Given the description of an element on the screen output the (x, y) to click on. 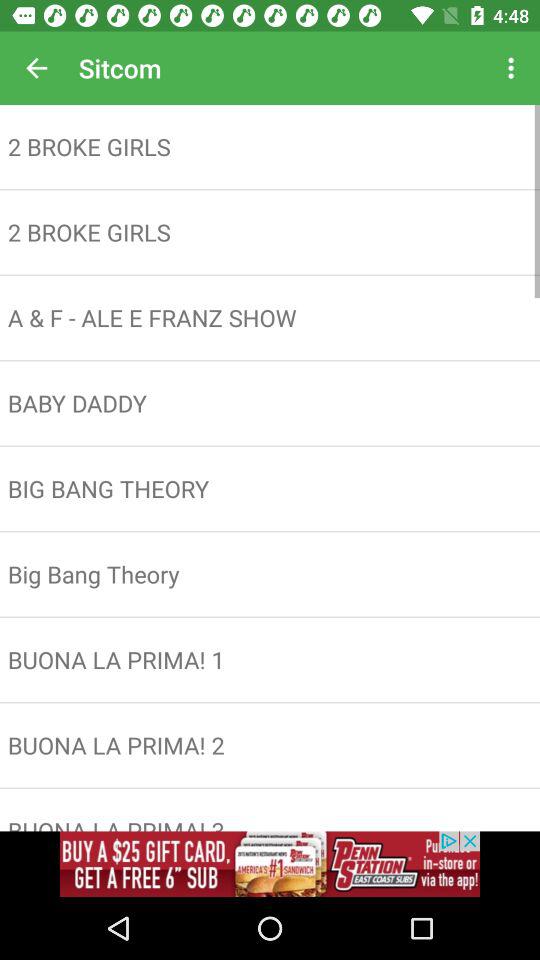
open advertisement (270, 864)
